Given the description of an element on the screen output the (x, y) to click on. 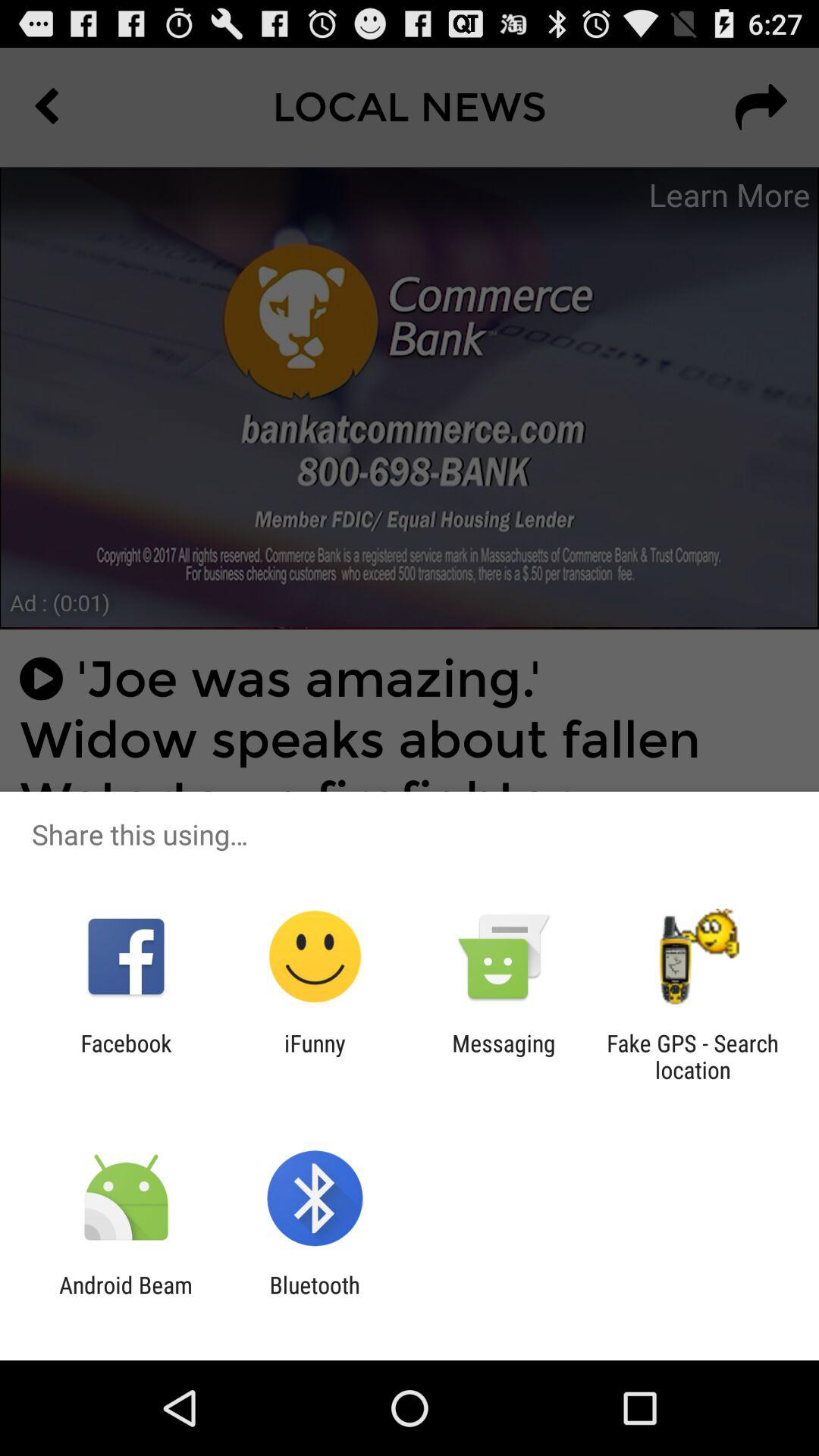
click the app to the right of the ifunny app (503, 1056)
